Given the description of an element on the screen output the (x, y) to click on. 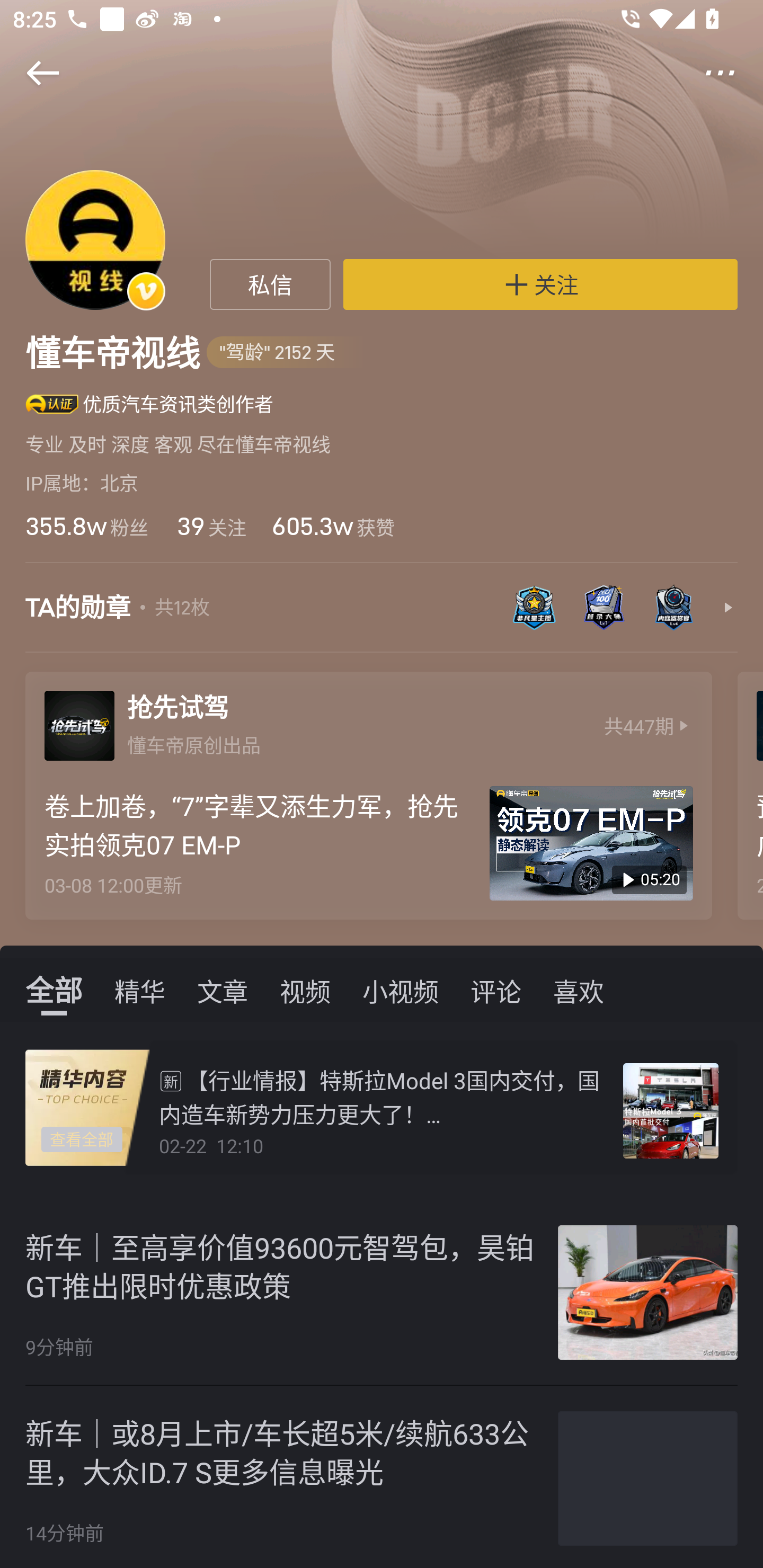
 (30, 72)
 (732, 72)
私信 (269, 284)
 关注 (540, 284)
"驾龄" 2152 天 (286, 352)
355.8w 粉丝 (86, 526)
39 关注 (209, 526)
605.3w 获赞 (332, 526)
TA的勋章 共12枚  (381, 616)
抢先试驾 懂车帝原创出品 共447期  (368, 722)
全部 (53, 990)
精华 (139, 990)
文章 (221, 990)
视频 (305, 990)
小视频 (400, 990)
评论 (495, 990)
喜欢 (578, 990)
查看全部 (81, 1139)
新车｜至高享价值93600元智驾包，昊铂GT推出限时优惠政策 9分钟前 (381, 1292)
新车｜或8月上市/车长超5米/续航633公里，大众ID.7 S更多信息曝光 14分钟前 (381, 1477)
